Given the description of an element on the screen output the (x, y) to click on. 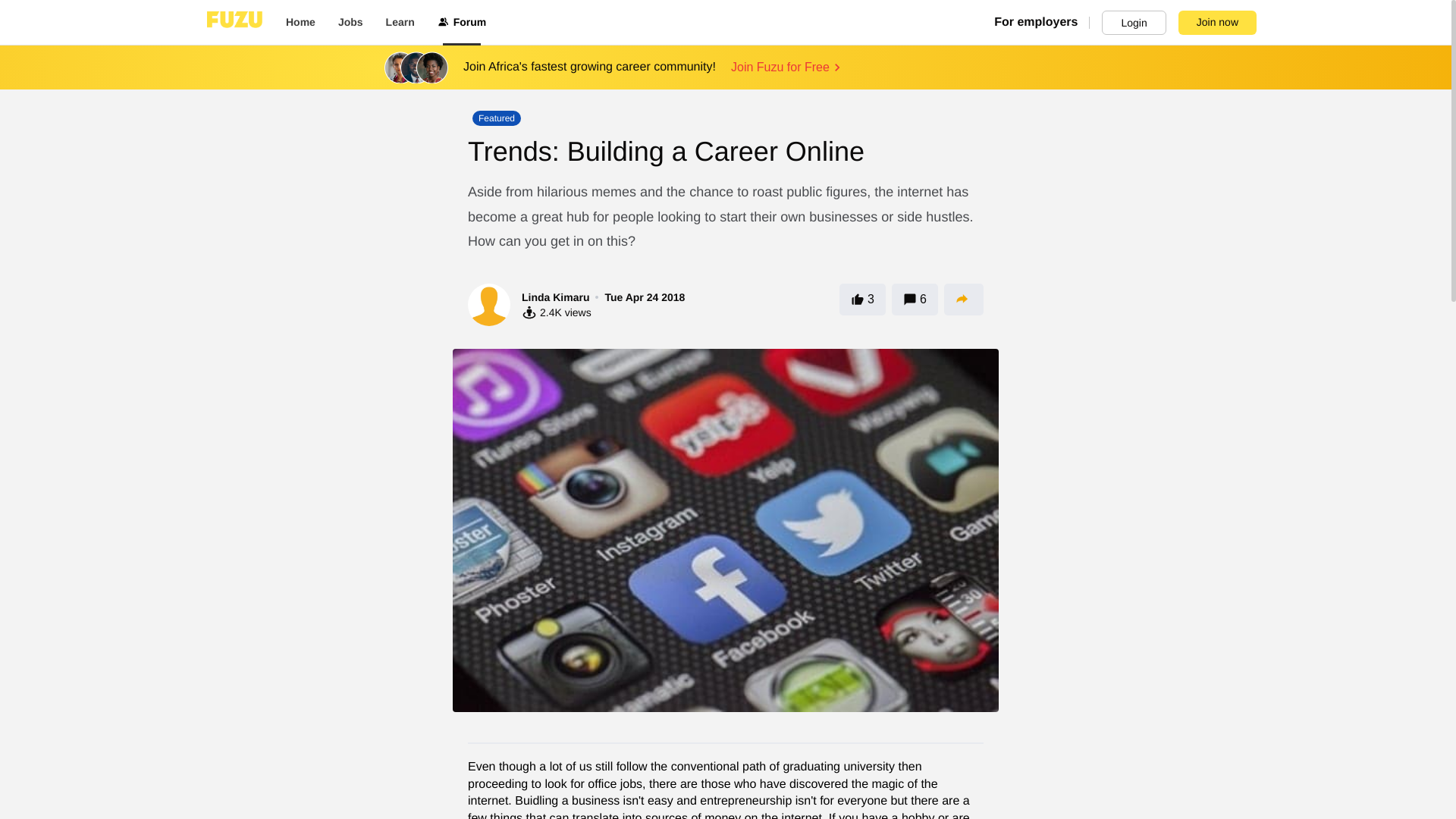
3 (862, 299)
Jobs (350, 22)
Home (300, 22)
6 (914, 299)
For employers (1041, 22)
Learn (400, 22)
Forum (461, 22)
Join now (1216, 22)
Login (1134, 22)
Join Fuzu for Free (787, 67)
